Given the description of an element on the screen output the (x, y) to click on. 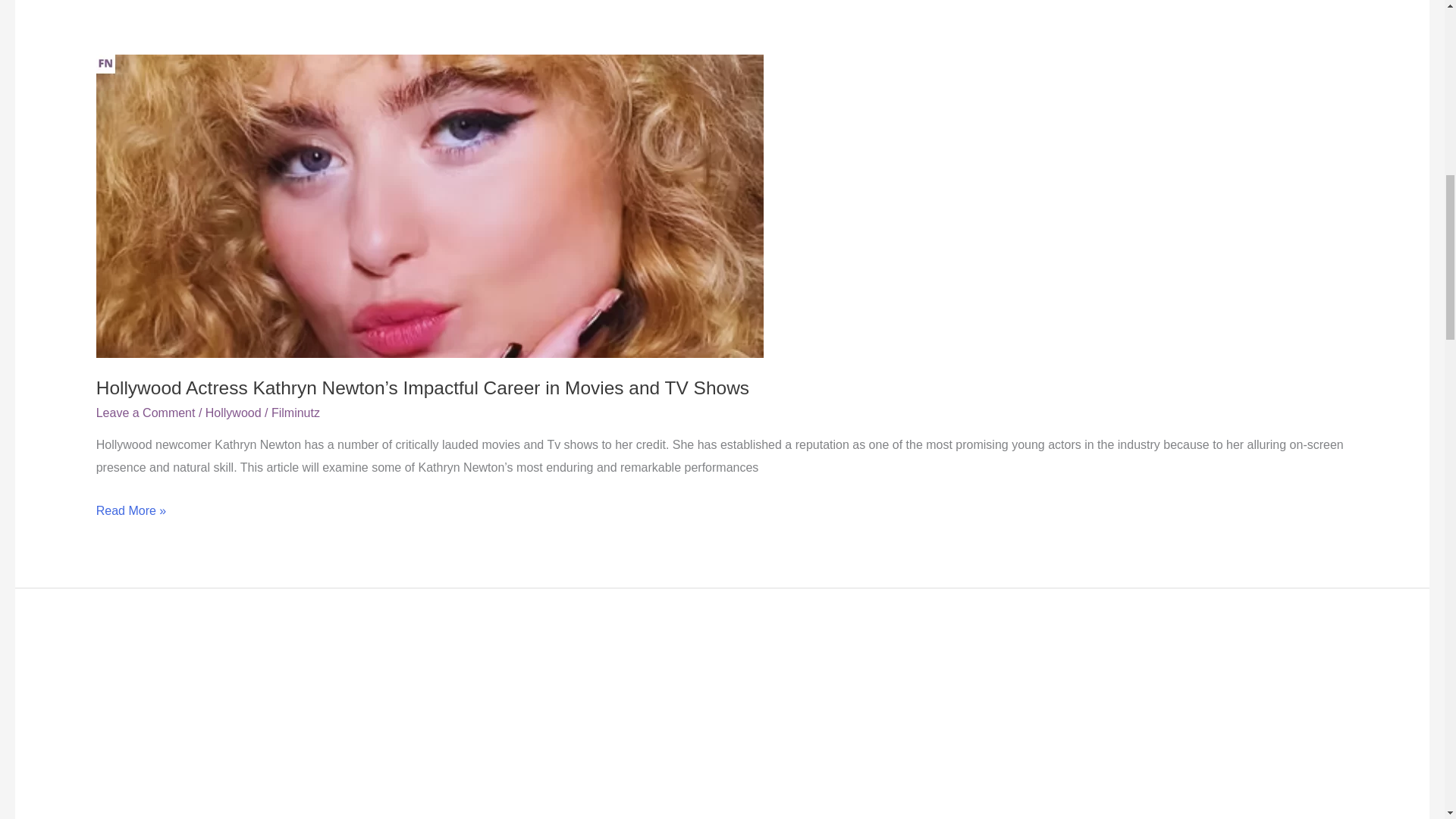
View all posts by Filminutz (295, 412)
